Given the description of an element on the screen output the (x, y) to click on. 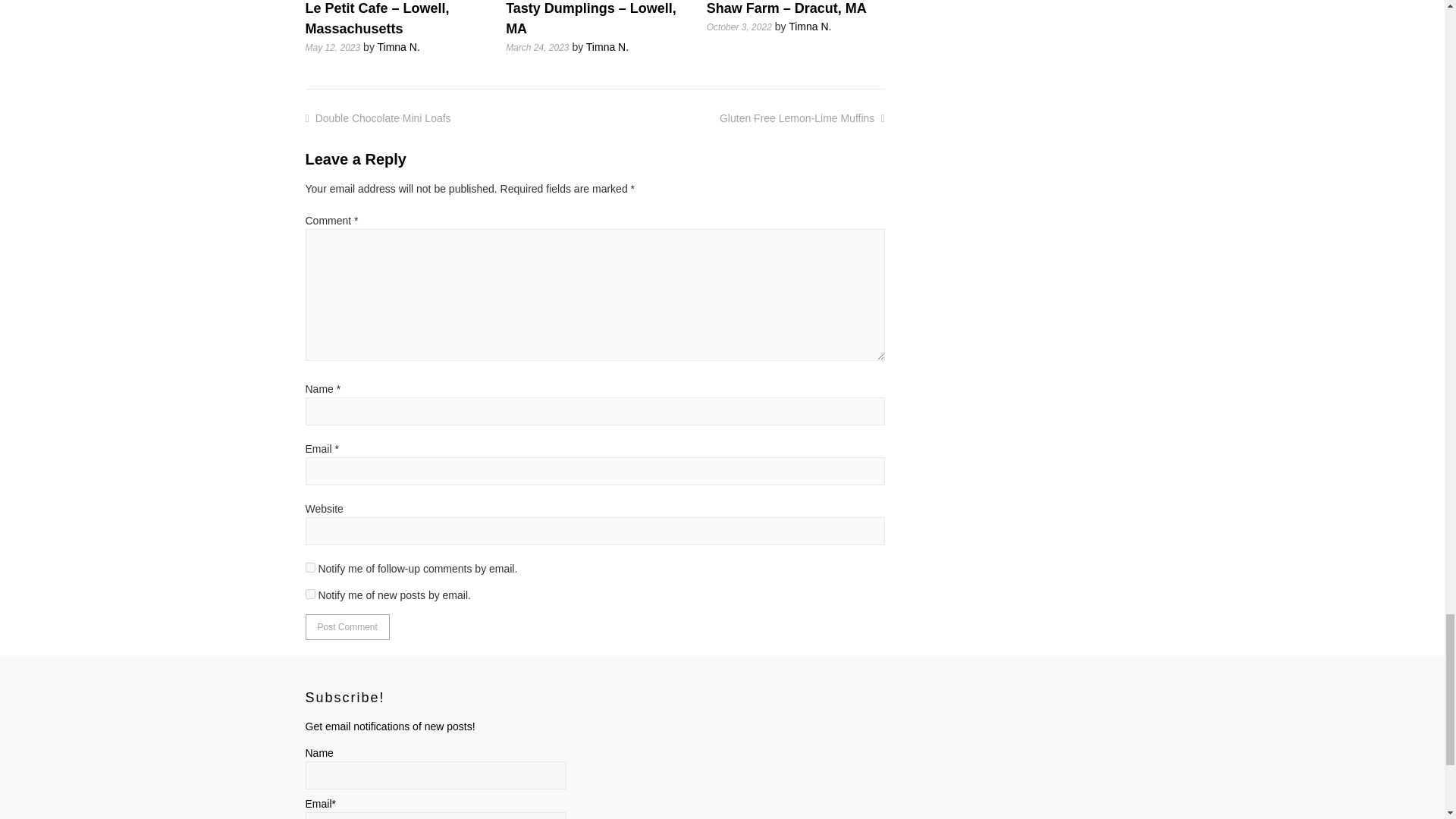
Timna N. (810, 26)
subscribe (309, 593)
subscribe (309, 567)
Timna N. (607, 46)
Timna N. (398, 46)
Post Comment (346, 626)
